Given the description of an element on the screen output the (x, y) to click on. 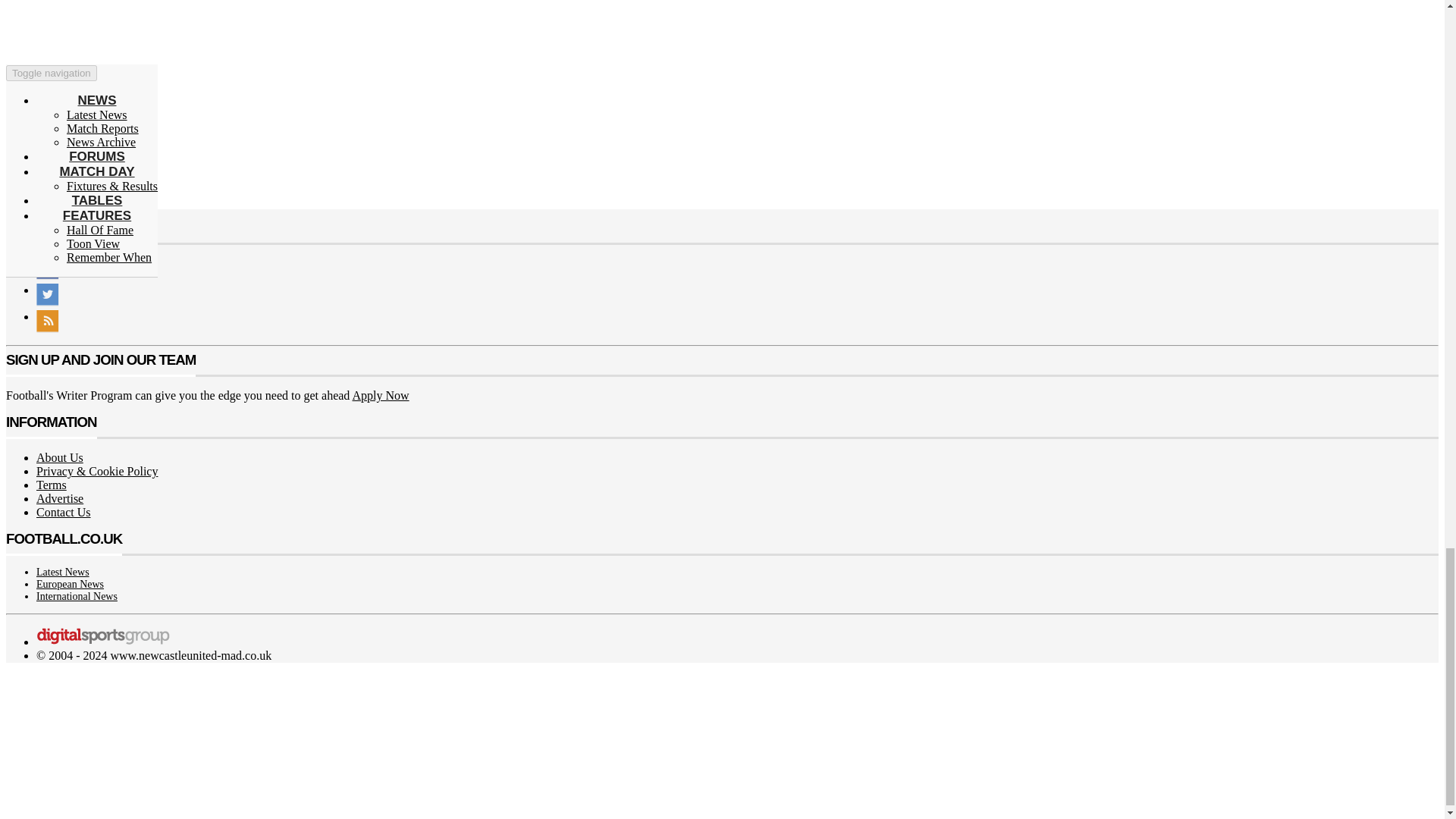
About us (59, 457)
Advertise on footymad.net (59, 498)
footymad.net Terms and Conditions (51, 484)
Contact us (63, 512)
